Given the description of an element on the screen output the (x, y) to click on. 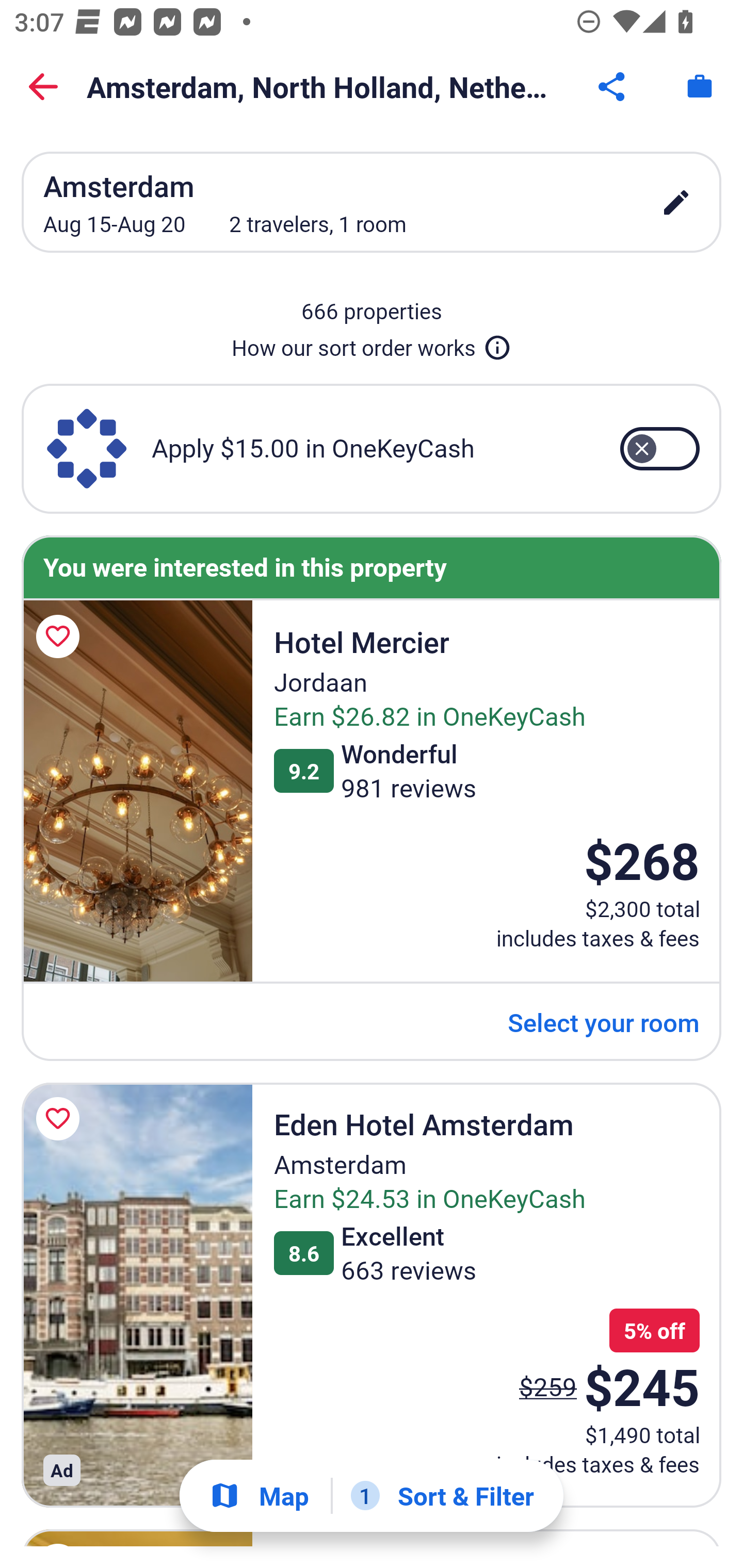
Back (43, 86)
Share Button (612, 86)
Trips. Button (699, 86)
Amsterdam Aug 15-Aug 20 2 travelers, 1 room edit (371, 202)
How our sort order works (371, 344)
Save Hotel Mercier to a trip (61, 636)
Hotel Mercier (136, 790)
Select your room Select your room Link (603, 1022)
Save Eden Hotel Amsterdam to a trip (61, 1118)
Eden Hotel Amsterdam (136, 1294)
$259 The price was $259 (547, 1386)
1 Sort & Filter 1 Filter applied. Filters Button (442, 1495)
Show map Map Show map Button (258, 1495)
